Given the description of an element on the screen output the (x, y) to click on. 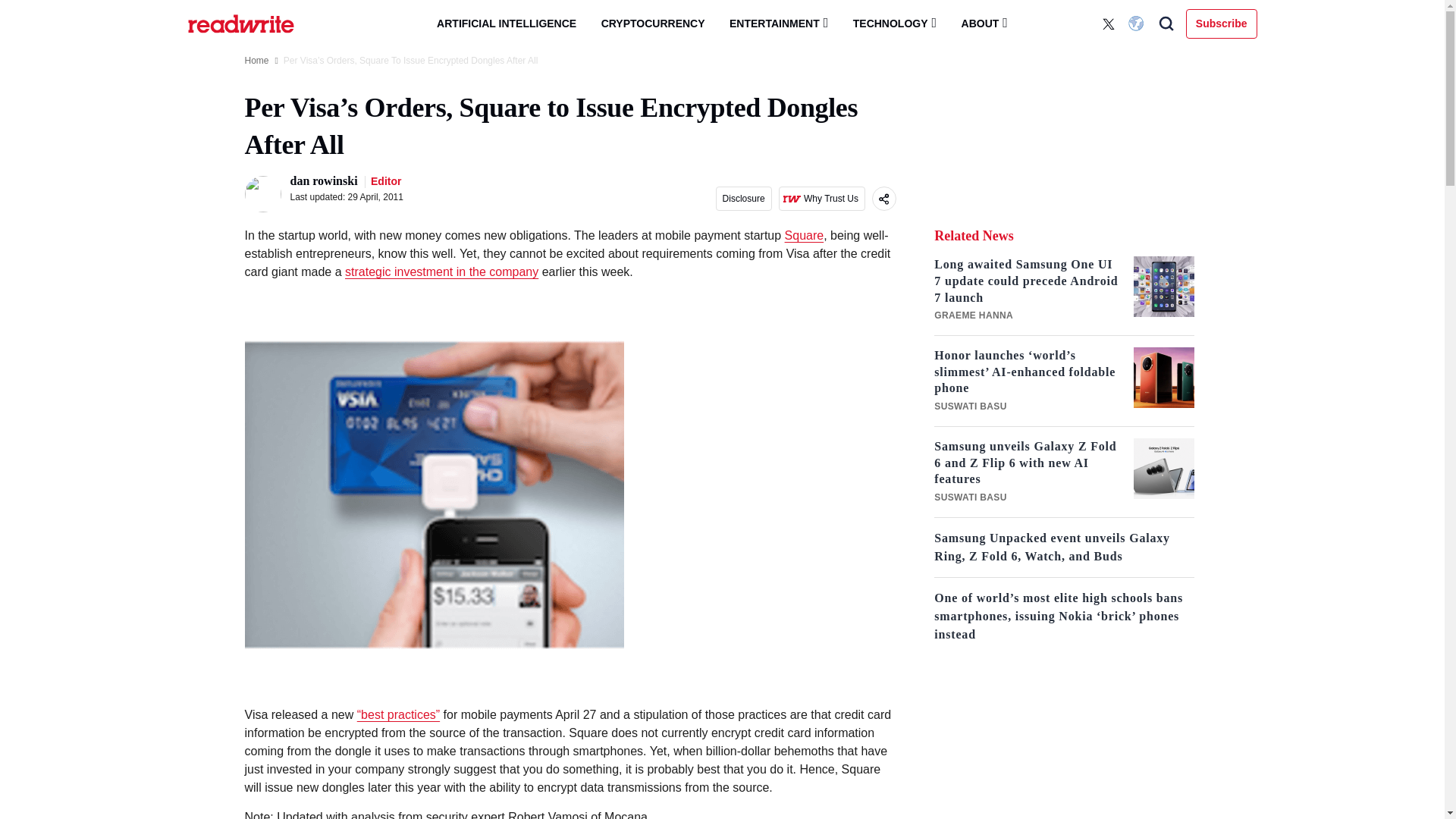
Subscribe (1221, 23)
Home (255, 60)
ABOUT (983, 23)
ARTIFICIAL INTELLIGENCE (506, 23)
ENTERTAINMENT (778, 23)
English (1137, 23)
CRYPTOCURRENCY (653, 23)
TECHNOLOGY (895, 23)
